Given the description of an element on the screen output the (x, y) to click on. 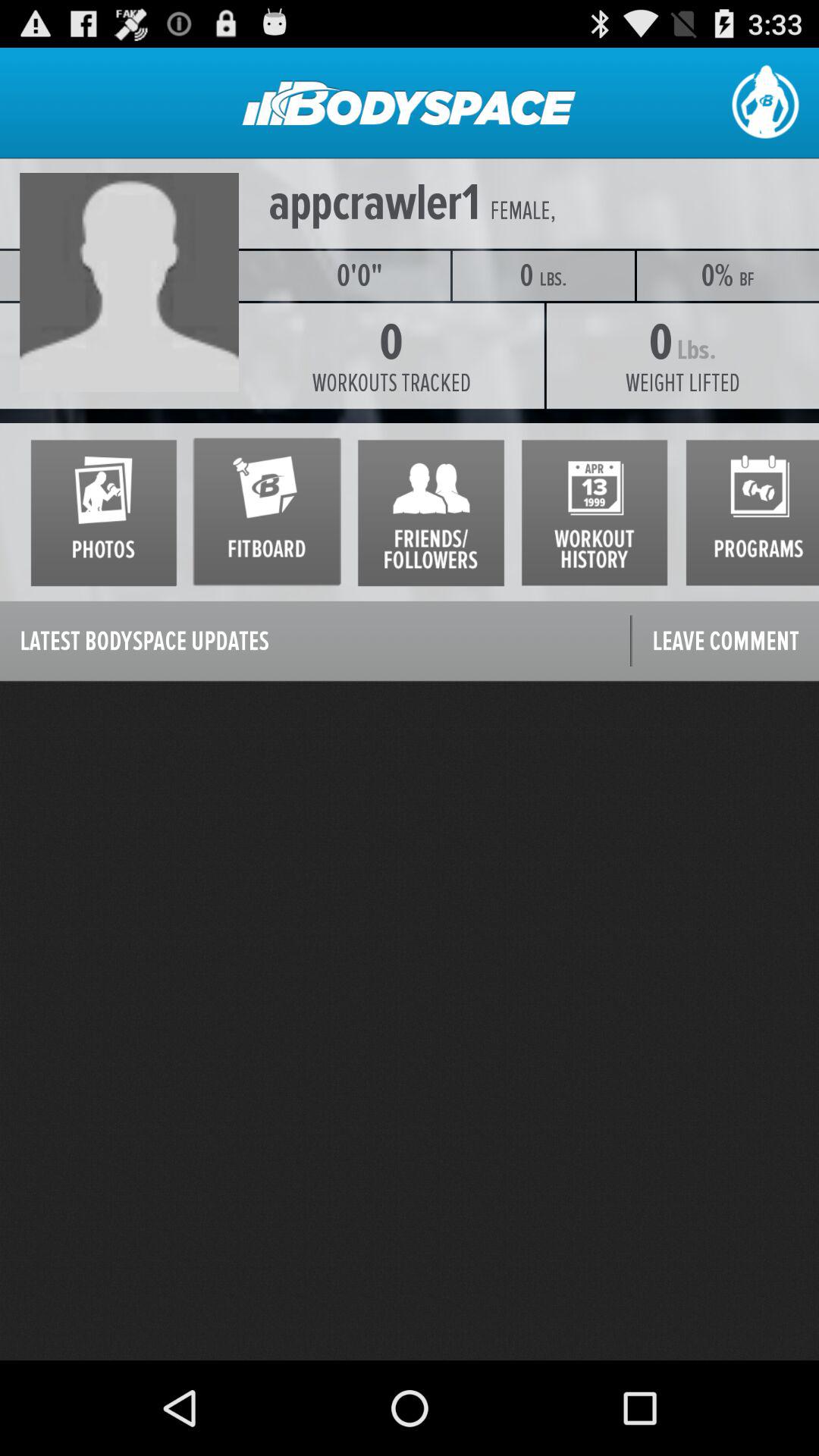
scroll to the appcrawler1 icon (374, 202)
